Given the description of an element on the screen output the (x, y) to click on. 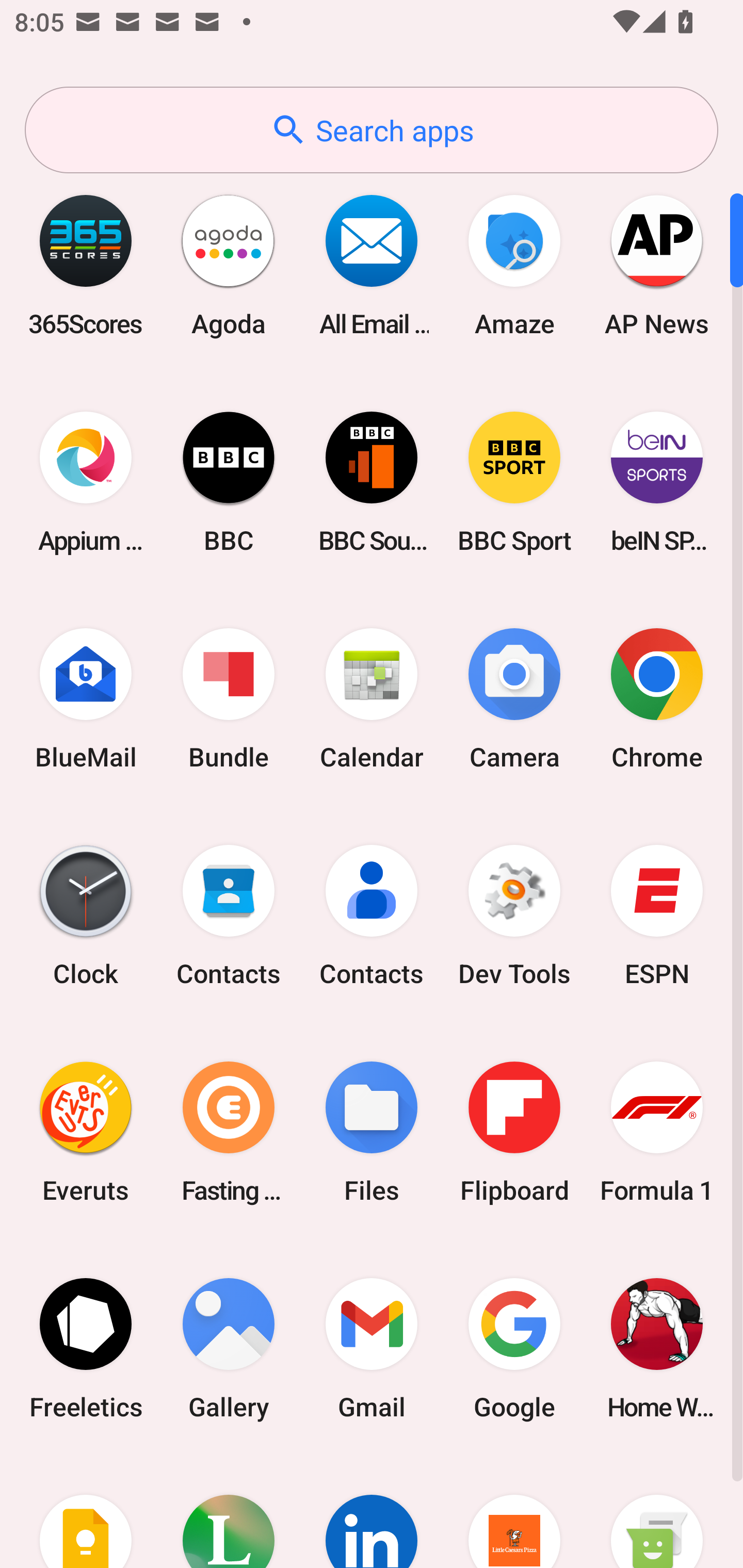
  Search apps (371, 130)
365Scores (85, 264)
Agoda (228, 264)
All Email Connect (371, 264)
Amaze (514, 264)
AP News (656, 264)
Appium Settings (85, 482)
BBC (228, 482)
BBC Sounds (371, 482)
BBC Sport (514, 482)
beIN SPORTS (656, 482)
BlueMail (85, 699)
Bundle (228, 699)
Calendar (371, 699)
Camera (514, 699)
Chrome (656, 699)
Clock (85, 915)
Contacts (228, 915)
Contacts (371, 915)
Dev Tools (514, 915)
ESPN (656, 915)
Everuts (85, 1131)
Fasting Coach (228, 1131)
Files (371, 1131)
Flipboard (514, 1131)
Formula 1 (656, 1131)
Freeletics (85, 1348)
Gallery (228, 1348)
Gmail (371, 1348)
Google (514, 1348)
Home Workout (656, 1348)
Keep Notes (85, 1512)
Lifesum (228, 1512)
LinkedIn (371, 1512)
Little Caesars Pizza (514, 1512)
Messaging (656, 1512)
